Given the description of an element on the screen output the (x, y) to click on. 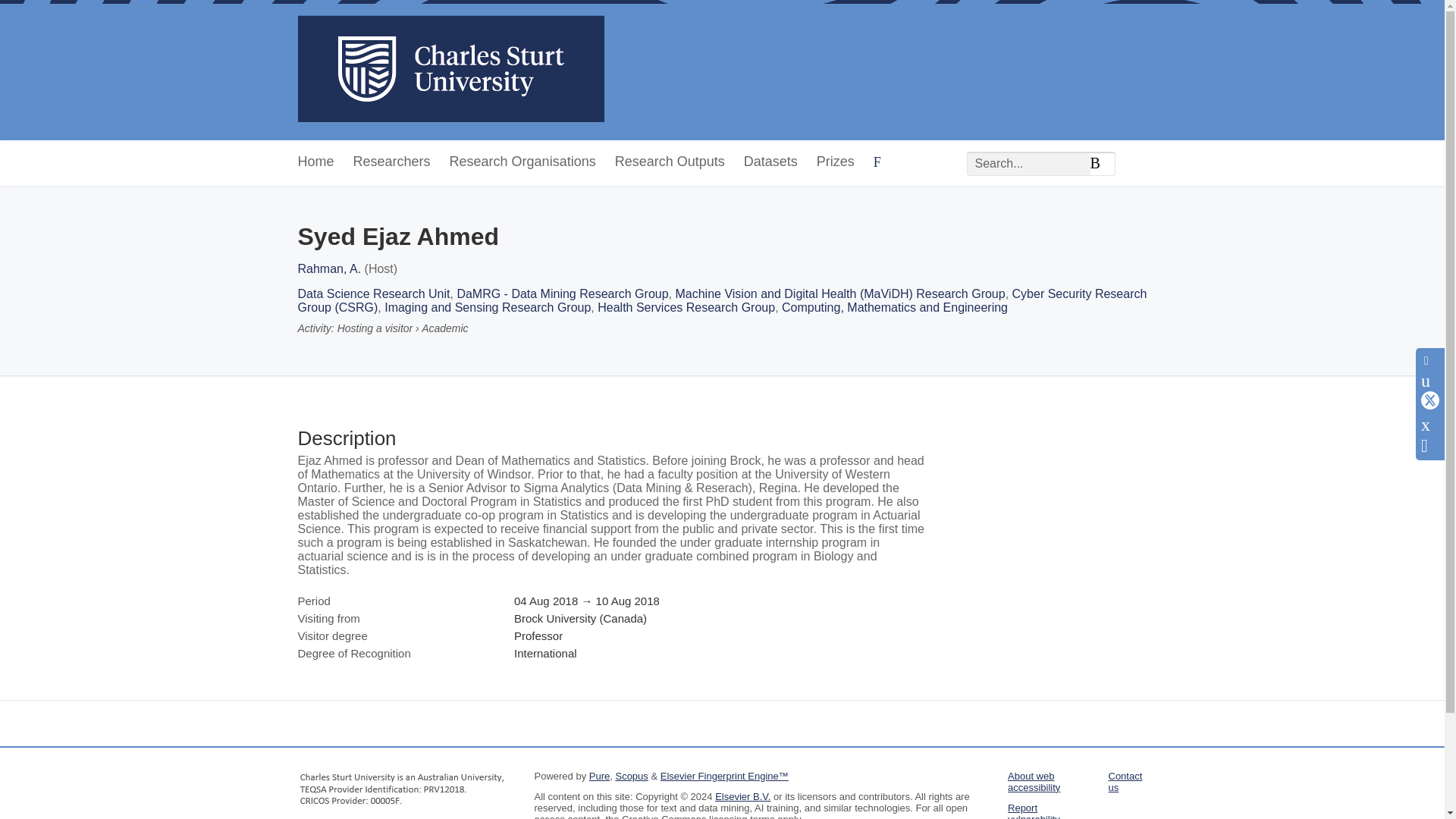
DaMRG - Data Mining Research Group (562, 293)
Research Organisations (522, 162)
X (1430, 403)
Report vulnerability (1033, 810)
Home (315, 162)
Scopus (630, 776)
Rahman, A. (329, 268)
Elsevier B.V. (742, 796)
Datasets (770, 162)
Researchers (391, 162)
Health Services Research Group (685, 307)
Pure (599, 776)
Charles Sturt University Research Output Home (450, 70)
Computing, Mathematics and Engineering (894, 307)
Data Science Research Unit (373, 293)
